Given the description of an element on the screen output the (x, y) to click on. 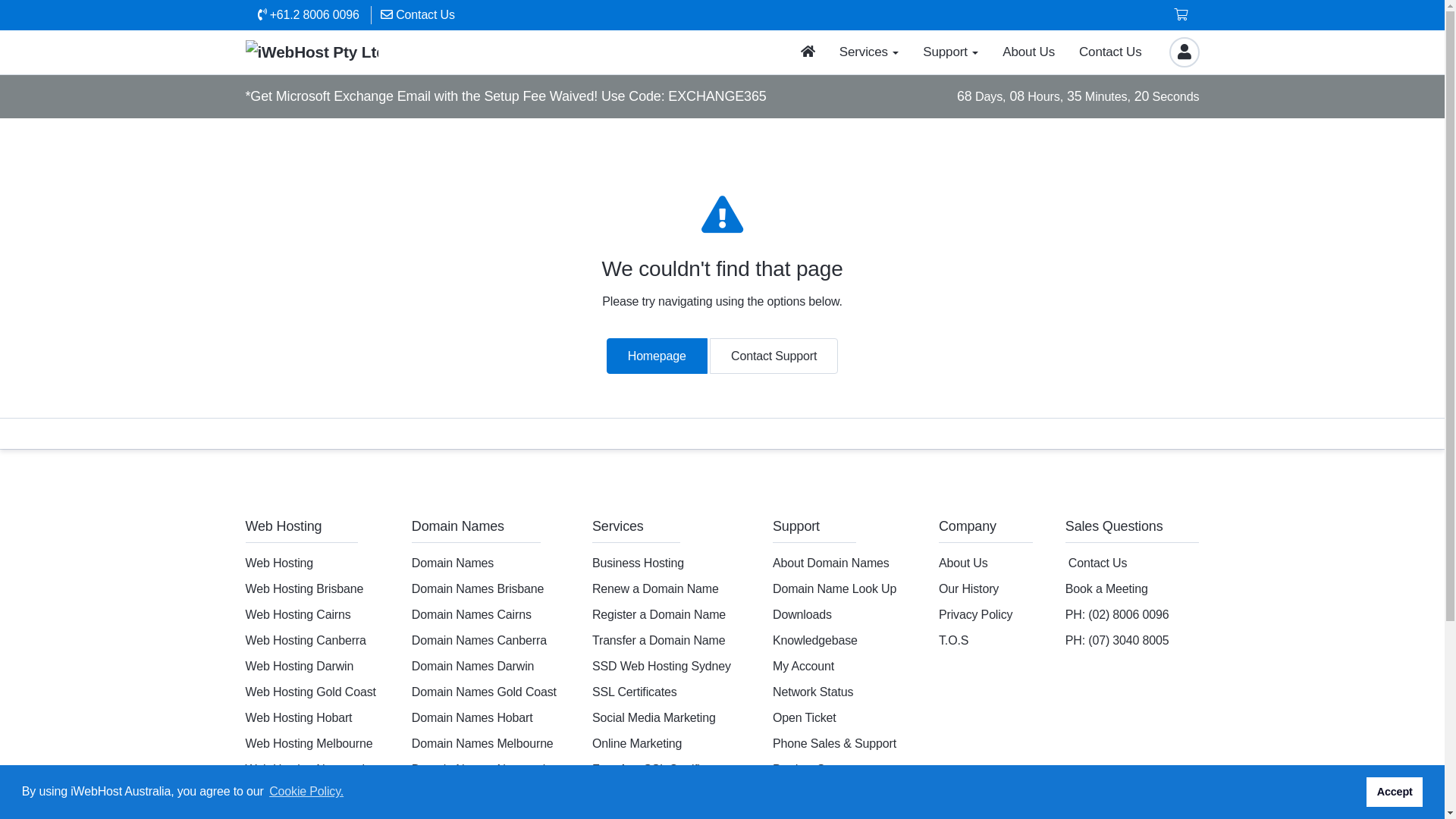
Web Hosting Element type: text (279, 562)
Our History Element type: text (968, 588)
Web Hosting Canberra Element type: text (305, 639)
Transfer a Domain Name Element type: text (658, 639)
PH: (07) 3040 8005 Element type: text (1117, 639)
Support Element type: text (950, 52)
Web Hosting Cairns Element type: text (298, 614)
Product Support Element type: text (815, 768)
About Us Element type: text (963, 562)
Web Hosting Gold Coast Element type: text (310, 691)
Cookie Policy. Element type: text (305, 791)
Domain Names Cairns Element type: text (471, 614)
Web Hosting Melbourne Element type: text (309, 743)
About Domain Names Element type: text (830, 562)
Web Hosting Newcastle Element type: text (308, 768)
+61.2 8006 0096 Element type: text (308, 13)
Contact Us Element type: text (417, 13)
About Us Element type: text (1028, 52)
Web Hosting Brisbane Element type: text (304, 588)
Book a Meeting Element type: text (1106, 588)
Contact Support Element type: text (773, 355)
SSD Web Hosting Sydney Element type: text (661, 665)
Knowledgebase Element type: text (814, 639)
Domain Names Gold Coast Element type: text (483, 691)
Network Status Element type: text (812, 691)
Contact Us Element type: text (1110, 52)
Domain Names Melbourne Element type: text (482, 743)
PH: (02) 8006 0096 Element type: text (1117, 614)
Domain Names Hobart Element type: text (472, 717)
Domain Name Look Up Element type: text (834, 588)
Services Element type: text (868, 52)
Register A Domain Name Element type: text (839, 794)
T.O.S Element type: text (953, 639)
Accept Element type: text (1394, 791)
Domain Names Brisbane Element type: text (477, 588)
Web Hosting Hobart Element type: text (298, 717)
Homepage Element type: text (656, 355)
Business Hosting Element type: text (638, 562)
SSL Certificates Element type: text (634, 691)
Phone Sales & Support Element type: text (834, 743)
Open Ticket Element type: text (804, 717)
Downloads Element type: text (801, 614)
Domain Names Canberra Element type: text (478, 639)
Renew a Domain Name Element type: text (655, 588)
Privacy Policy Element type: text (975, 614)
Register a Domain Name Element type: text (658, 614)
Contact Us Element type: text (1097, 562)
Social Media Marketing Element type: text (653, 717)
Domain Ownership Transfer Element type: text (666, 794)
Domain Names Perth Element type: text (468, 794)
Domain Names Newcastle Element type: text (481, 768)
My Account Element type: text (803, 665)
Web Hosting Darwin Element type: text (299, 665)
Web Hosting Perth Element type: text (295, 794)
Free AutoSSL Certificate Element type: text (657, 768)
Online Marketing Element type: text (636, 743)
Domain Names Darwin Element type: text (472, 665)
Domain Names Element type: text (452, 562)
